Given the description of an element on the screen output the (x, y) to click on. 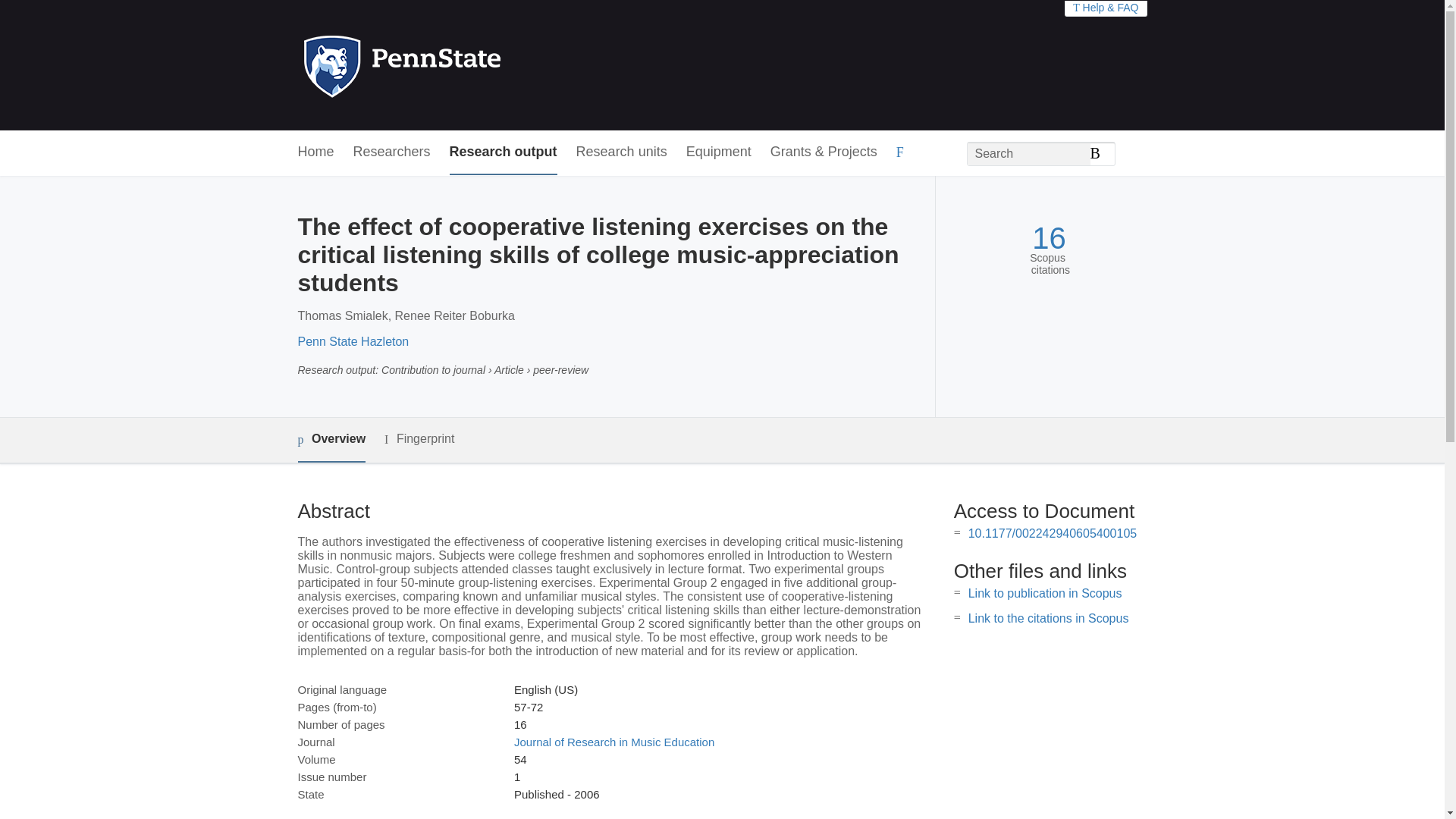
Equipment (718, 152)
Research units (621, 152)
Researchers (391, 152)
Penn State Hazleton (353, 341)
Research output (503, 152)
16 (1048, 238)
Fingerprint (419, 439)
Journal of Research in Music Education (613, 741)
Overview (331, 439)
Link to the citations in Scopus (1048, 617)
